Given the description of an element on the screen output the (x, y) to click on. 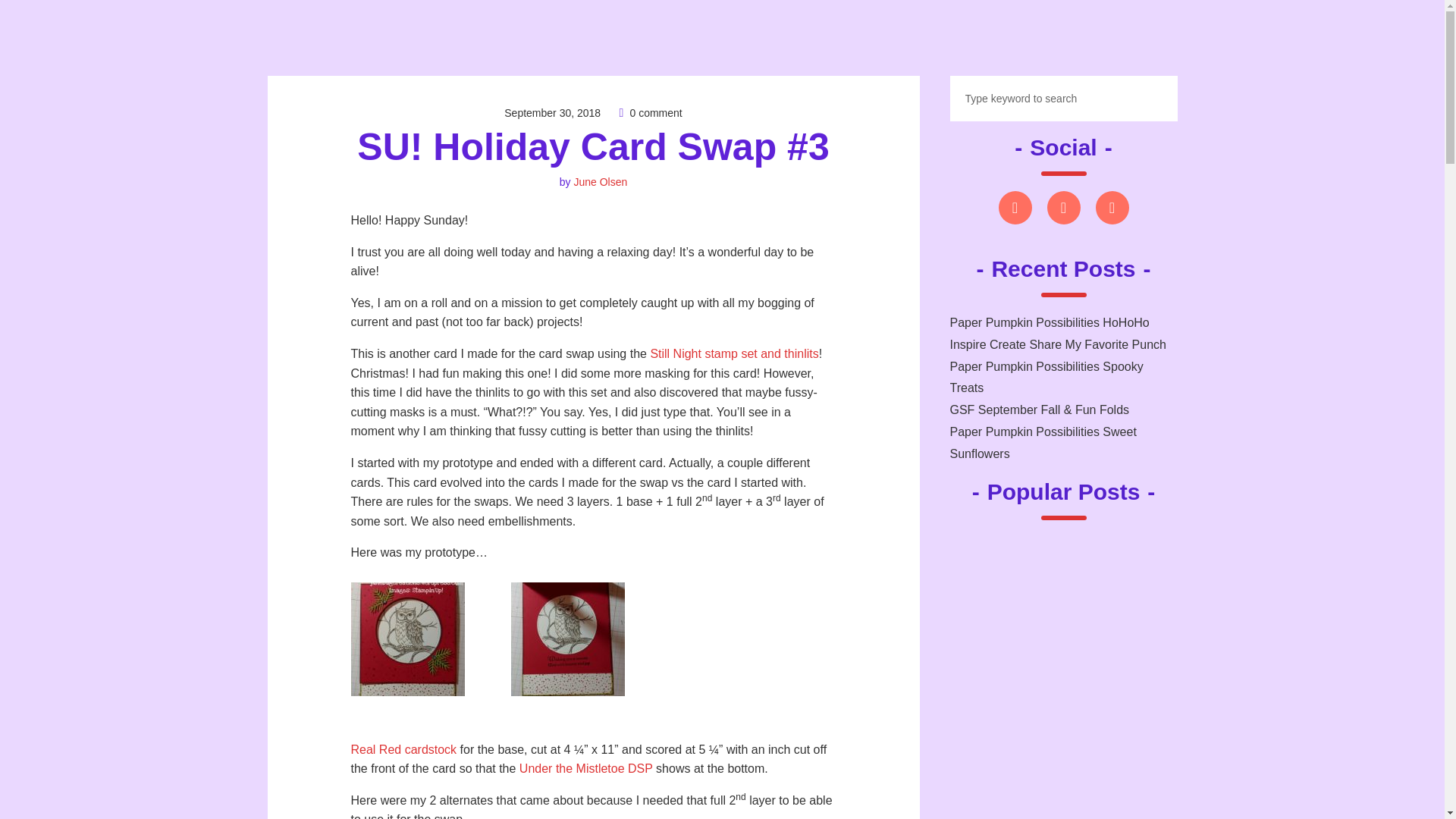
Type keyword to search (1062, 98)
Under the Mistletoe DSP (585, 768)
Still Night stamp set and thinlits (733, 353)
0 comment (654, 112)
Type keyword to search (1062, 98)
June Olsen (600, 182)
September 30, 2018 (551, 112)
Real Red cardstock (403, 748)
